Given the description of an element on the screen output the (x, y) to click on. 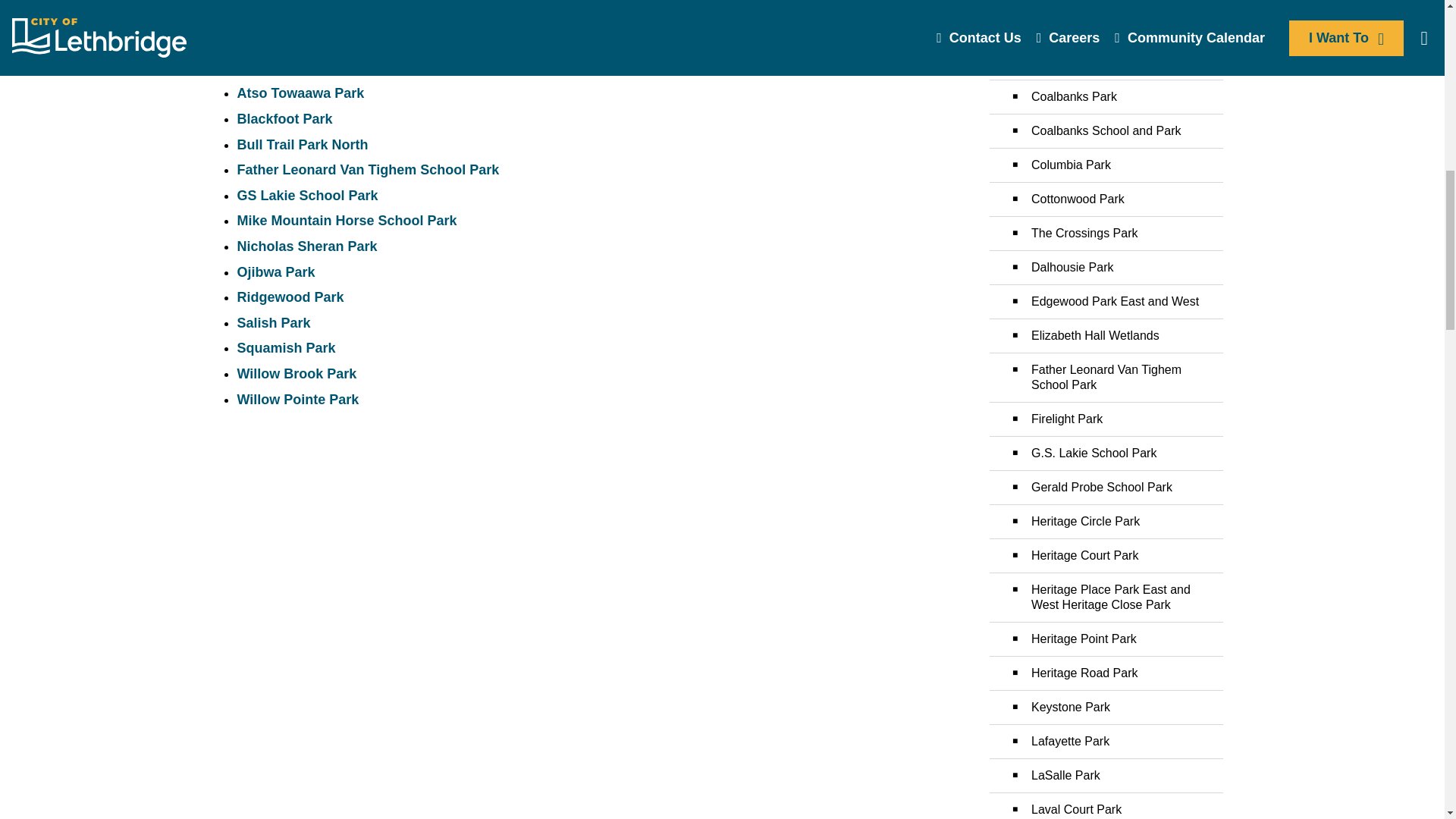
G.S. Lakie School Park (306, 195)
Algonquin Park (286, 68)
Ridgewood Park (289, 296)
Nicholas Sheran Park (306, 246)
Atso Towaawa Park (299, 92)
GS Lakie School Park (306, 195)
Mike Mountain Horse School Park (346, 220)
Squamish Park (284, 347)
Father Leonard Van Tighem School Park (367, 169)
Ridgewood Park (289, 296)
